Given the description of an element on the screen output the (x, y) to click on. 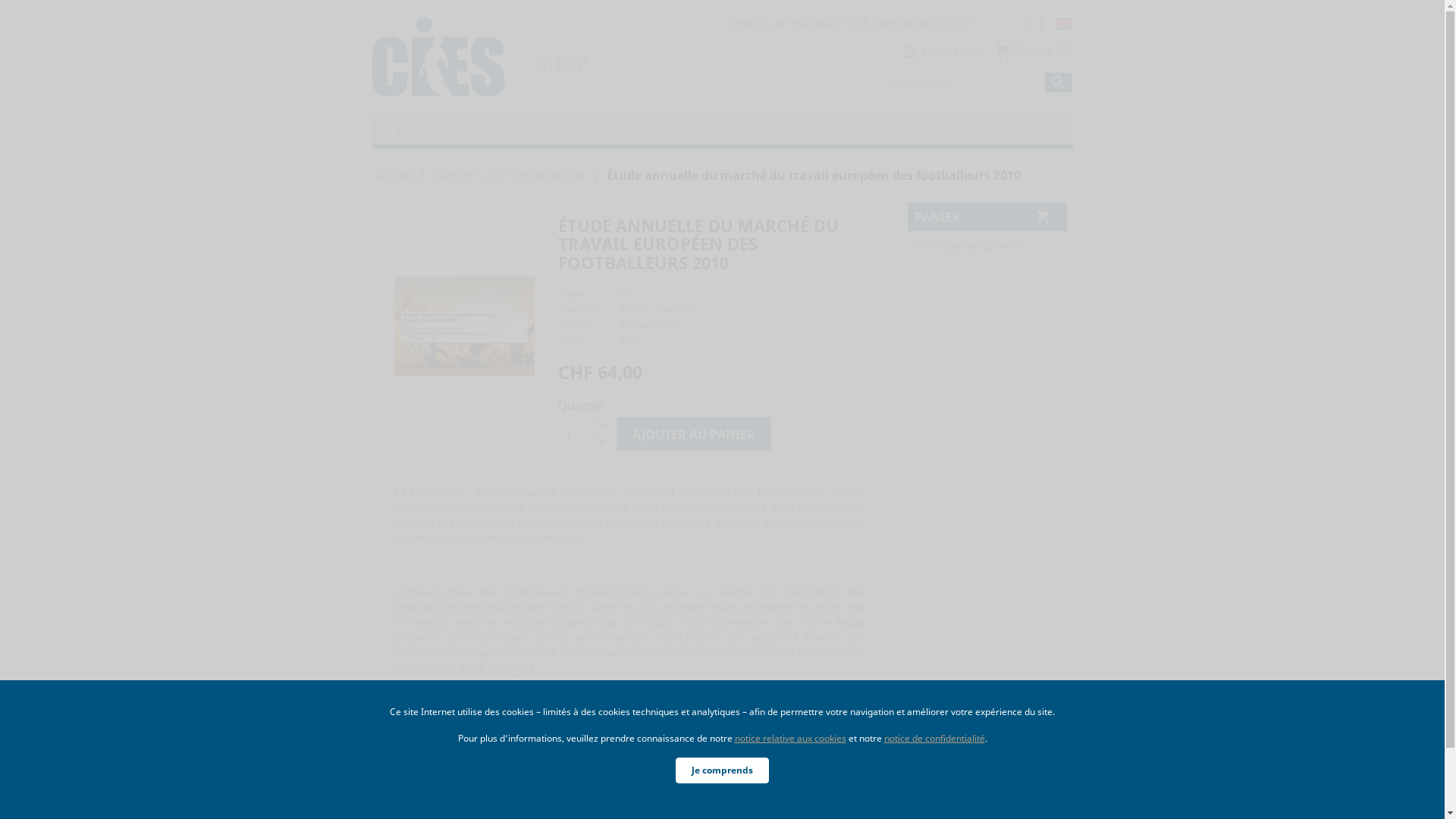
Je comprends Element type: text (721, 770)
notice relative aux cookies Element type: text (789, 737)
RAPPORTS DE L'OBSERVATOIRE Element type: text (707, 129)
AJOUTER AU PANIER Element type: text (693, 433)
home Element type: text (389, 126)
Rapports de l'Observatoire Element type: text (508, 174)
Accueil Element type: text (391, 174)
TOUTES LES PUBLICATIONS Element type: text (502, 129)
